Given the description of an element on the screen output the (x, y) to click on. 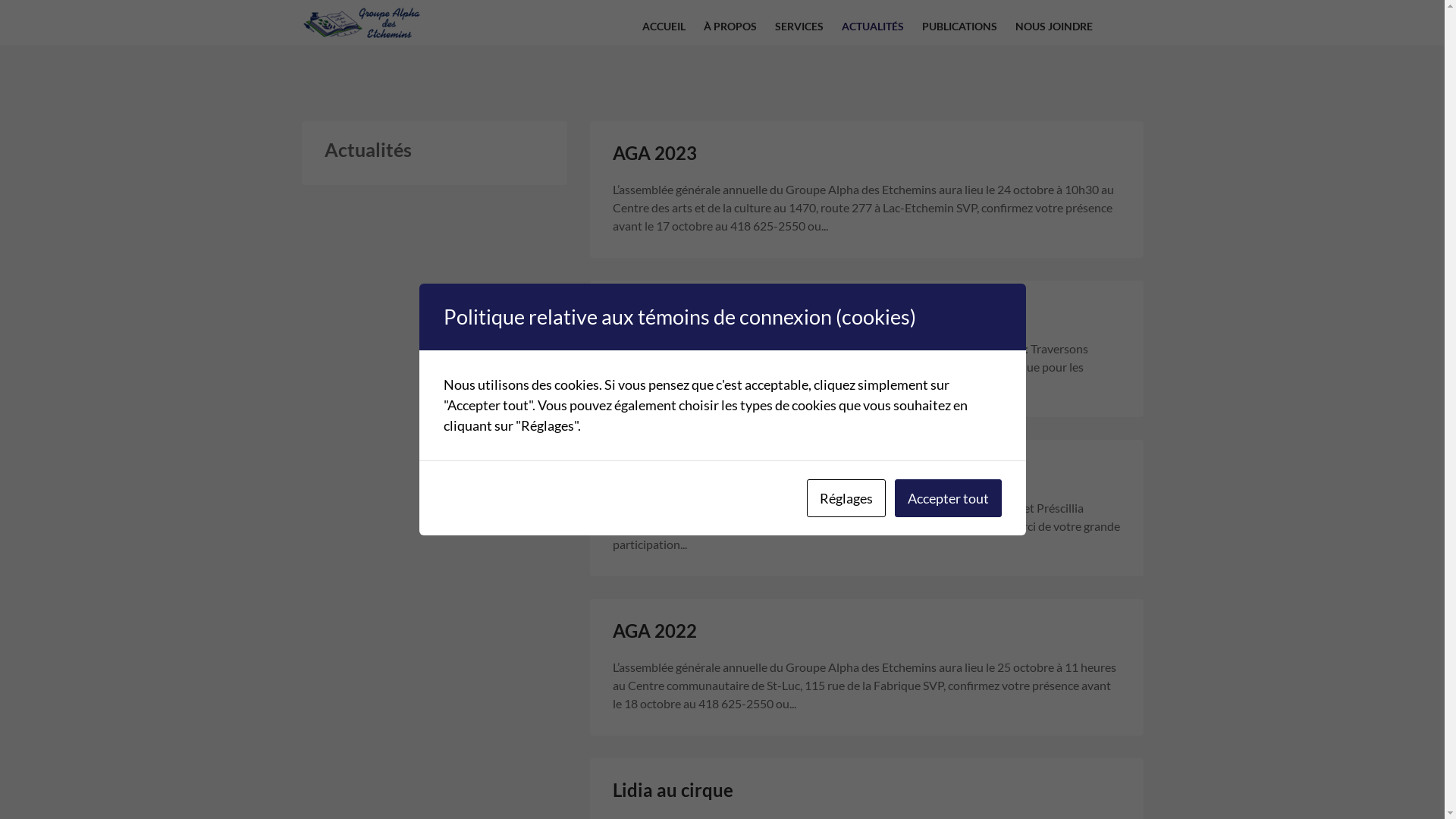
PUBLICATIONS Element type: text (959, 22)
Lidia au cirque Element type: text (672, 789)
SERVICES Element type: text (798, 22)
Accepter tout Element type: text (947, 498)
AGA 2023 Element type: text (654, 152)
ACCUEIL Element type: text (662, 22)
NOUS JOINDRE Element type: text (1053, 22)
AGA 2022 Element type: text (654, 630)
